Given the description of an element on the screen output the (x, y) to click on. 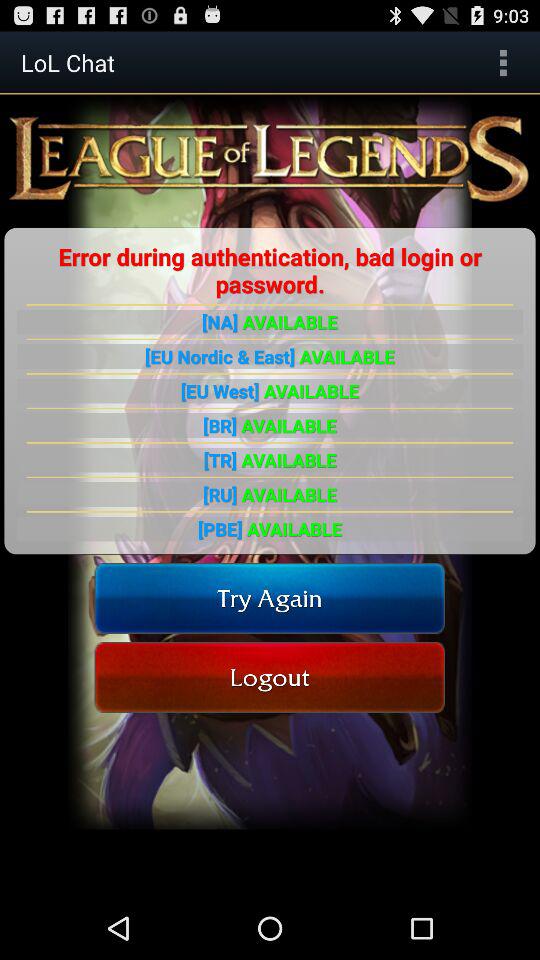
choose app to the right of lol chat icon (503, 62)
